Given the description of an element on the screen output the (x, y) to click on. 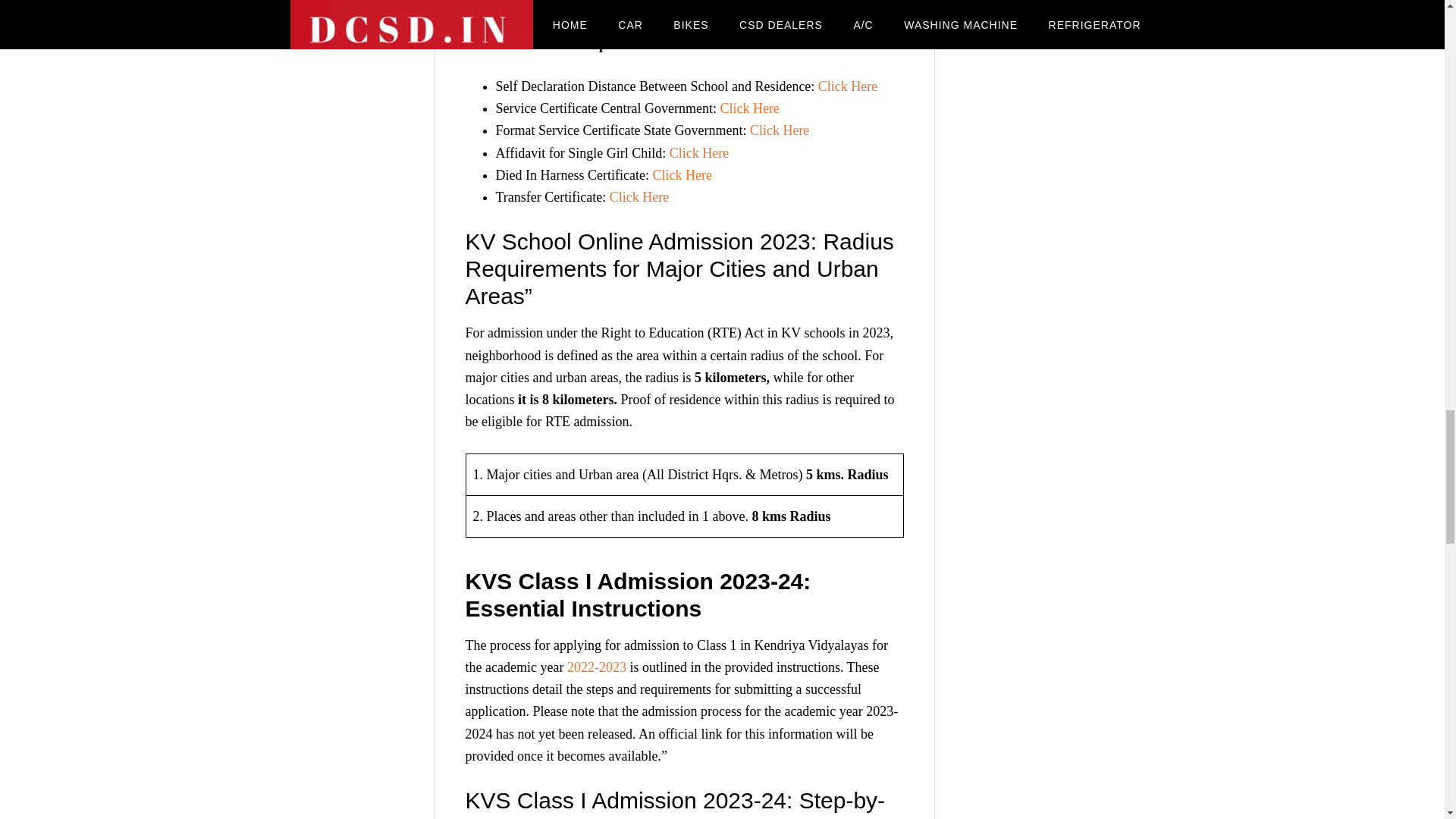
Click Here (699, 152)
Click Here (779, 130)
Click Here (847, 86)
2022-2023 (596, 667)
Click Here (639, 196)
Click Here (681, 174)
Click Here (748, 108)
